Given the description of an element on the screen output the (x, y) to click on. 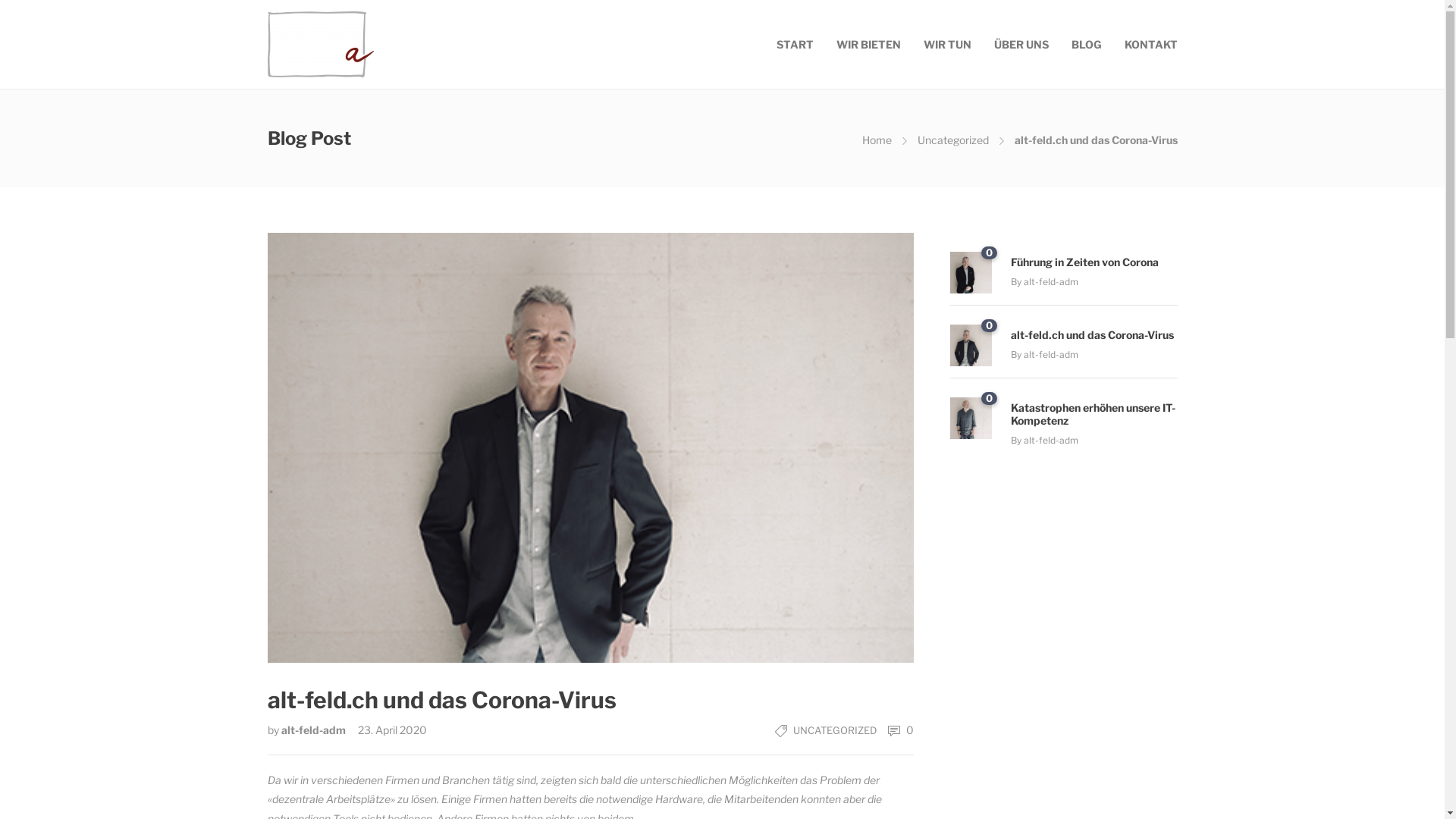
WIR TUN Element type: text (947, 43)
alt-feld-adm Element type: text (1050, 354)
BLOG Element type: text (1085, 43)
alt-feld-adm Element type: text (313, 729)
KONTAKT Element type: text (1149, 43)
23. April 2020 Element type: text (386, 729)
alt-feld-adm Element type: text (1050, 281)
WIR BIETEN Element type: text (867, 43)
alt-feld.ch und das Corona-Virus Element type: text (1093, 332)
0 Element type: text (894, 730)
Home Element type: text (876, 139)
0 Element type: text (970, 345)
alt-feld.ch und das Corona-Virus Element type: text (589, 693)
Uncategorized Element type: text (952, 139)
0 Element type: text (970, 418)
UNCATEGORIZED Element type: text (834, 730)
alt-feld-adm Element type: text (1050, 439)
0 Element type: text (970, 272)
START Element type: text (794, 43)
